Given the description of an element on the screen output the (x, y) to click on. 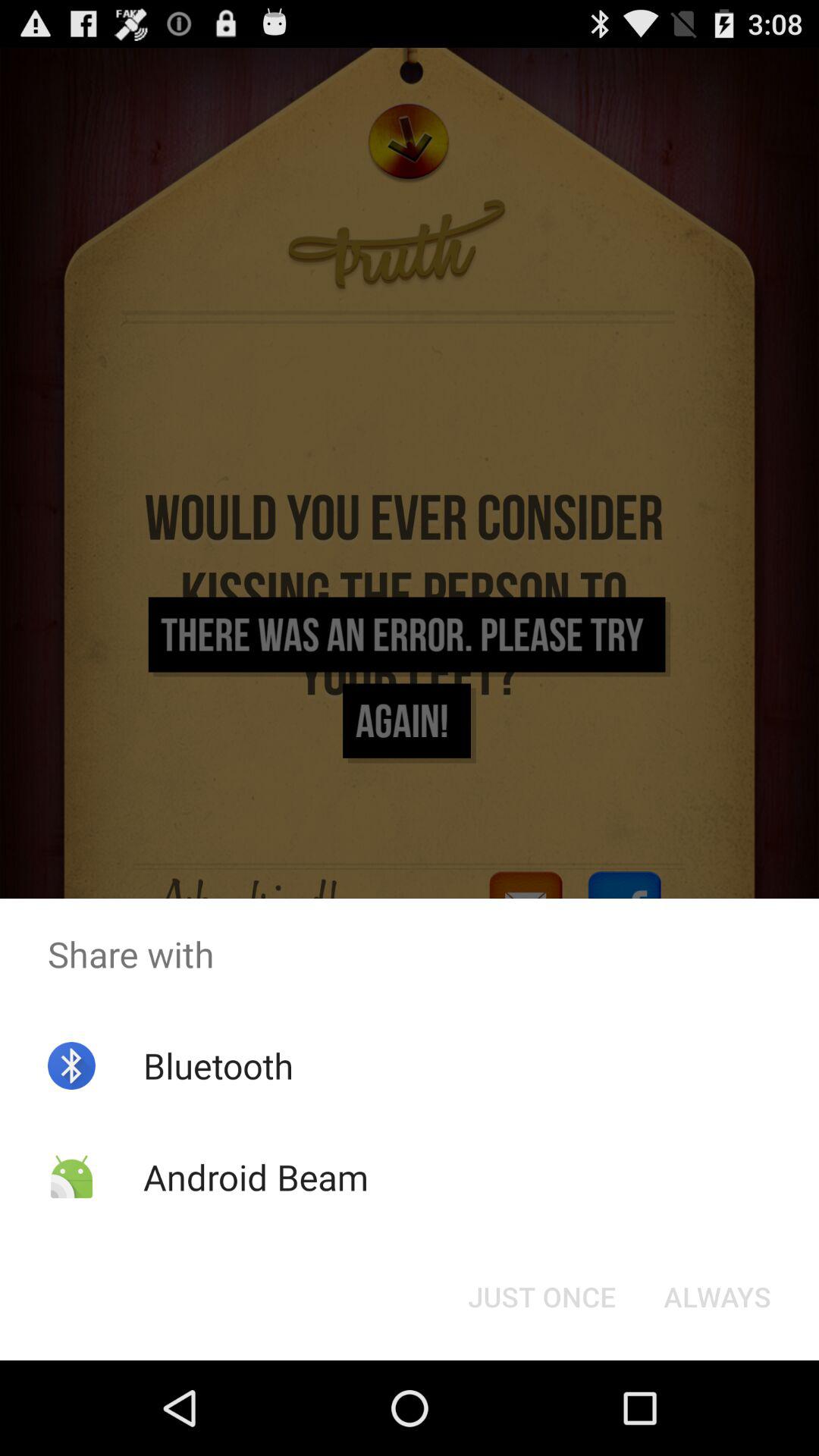
launch the item at the bottom (541, 1296)
